Given the description of an element on the screen output the (x, y) to click on. 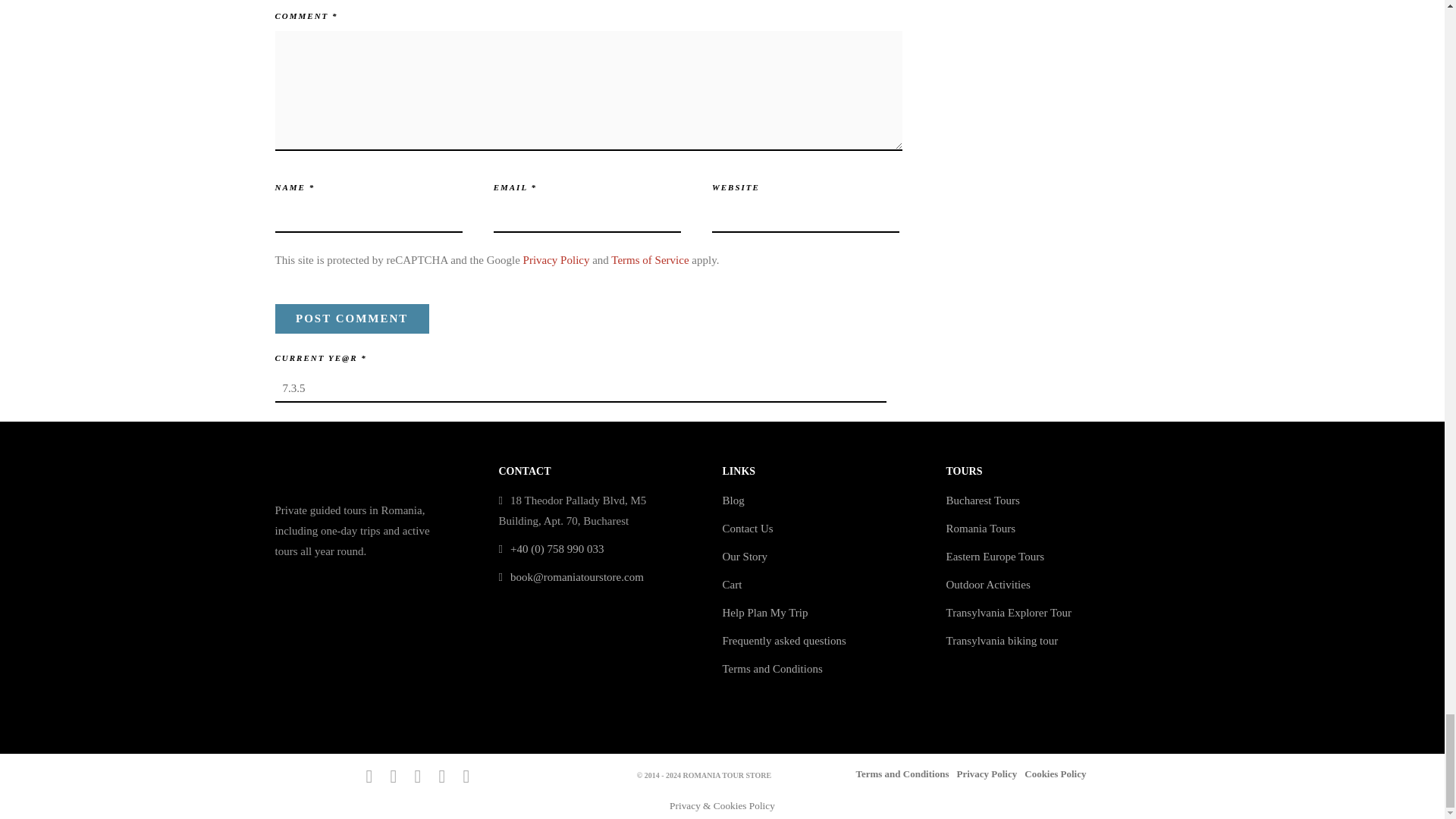
7.3.5 (580, 387)
Post Comment (351, 318)
